Given the description of an element on the screen output the (x, y) to click on. 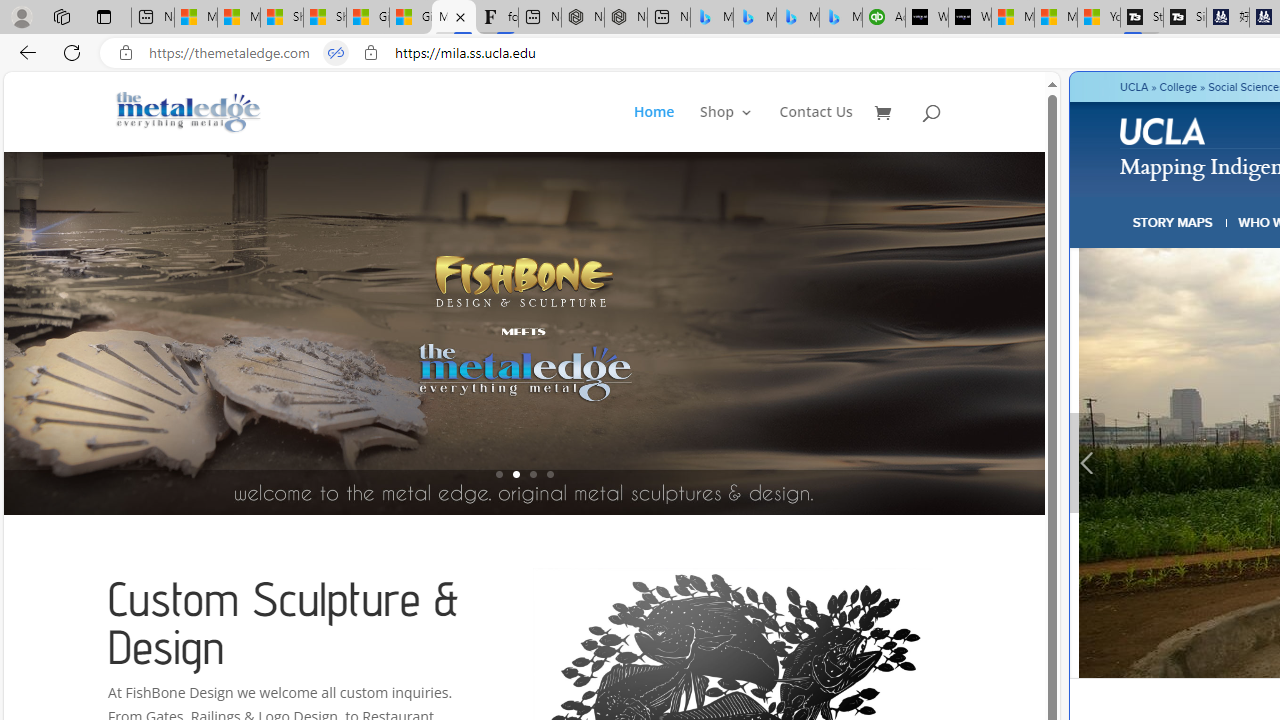
1 (499, 474)
Accounting Software for Accountants, CPAs and Bookkeepers (883, 17)
Contact Us (815, 128)
STORY MAPS (1173, 222)
Tabs in split screen (335, 53)
Microsoft Bing Travel - Shangri-La Hotel Bangkok (840, 17)
3 (532, 474)
Streaming Coverage | T3 (1142, 17)
Mapping Indigenous LA (453, 17)
